Given the description of an element on the screen output the (x, y) to click on. 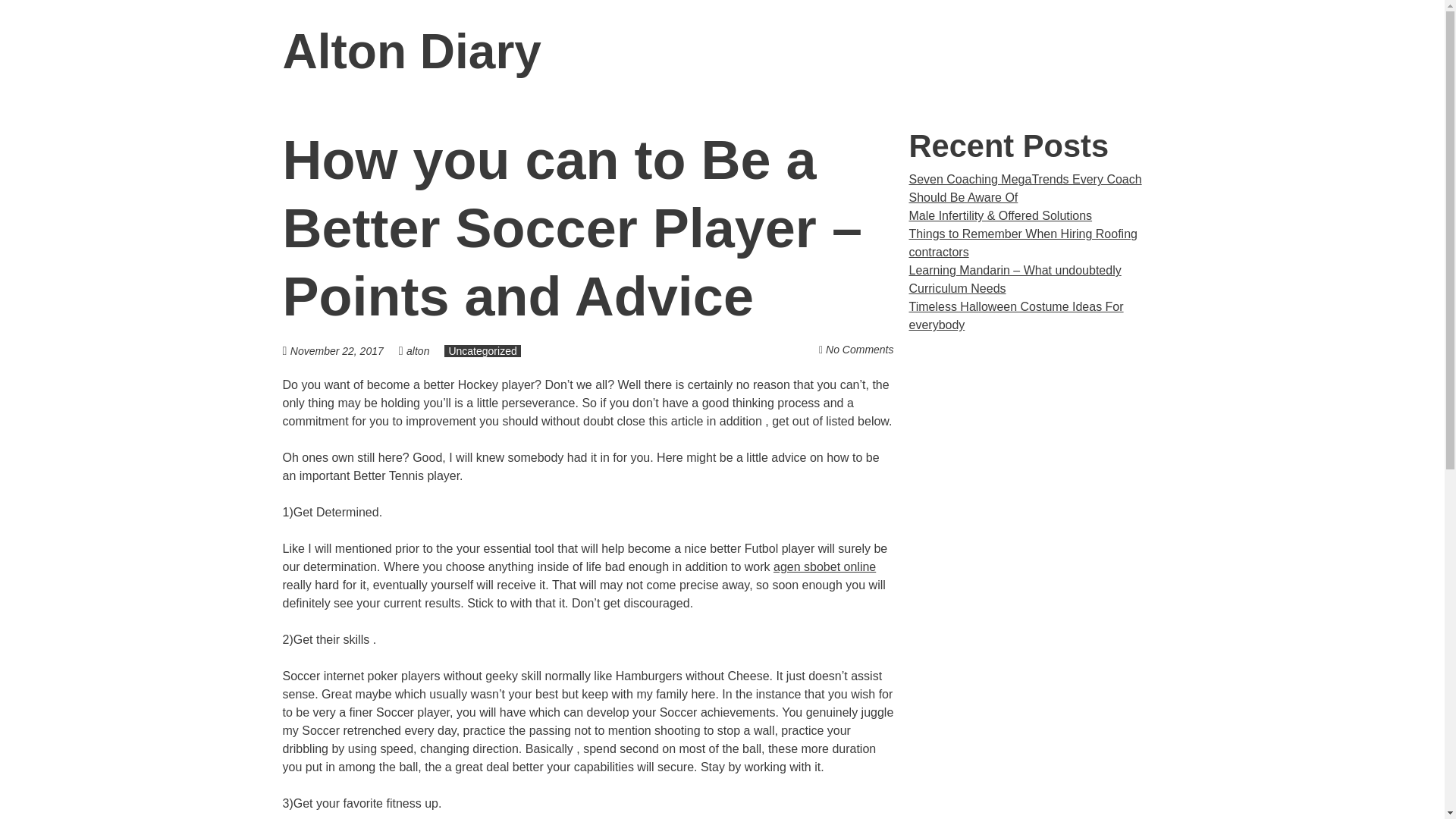
No Comments (859, 349)
November 22, 2017 (343, 350)
alton (417, 350)
Seven Coaching MegaTrends Every Coach Should Be Aware Of (1024, 187)
Alton Diary (411, 51)
Things to Remember When Hiring Roofing contractors (1022, 242)
Skip to content (1181, 52)
Skip to content (1181, 52)
agen sbobet online (824, 566)
Timeless Halloween Costume Ideas For everybody (1015, 315)
Uncategorized (481, 350)
